Given the description of an element on the screen output the (x, y) to click on. 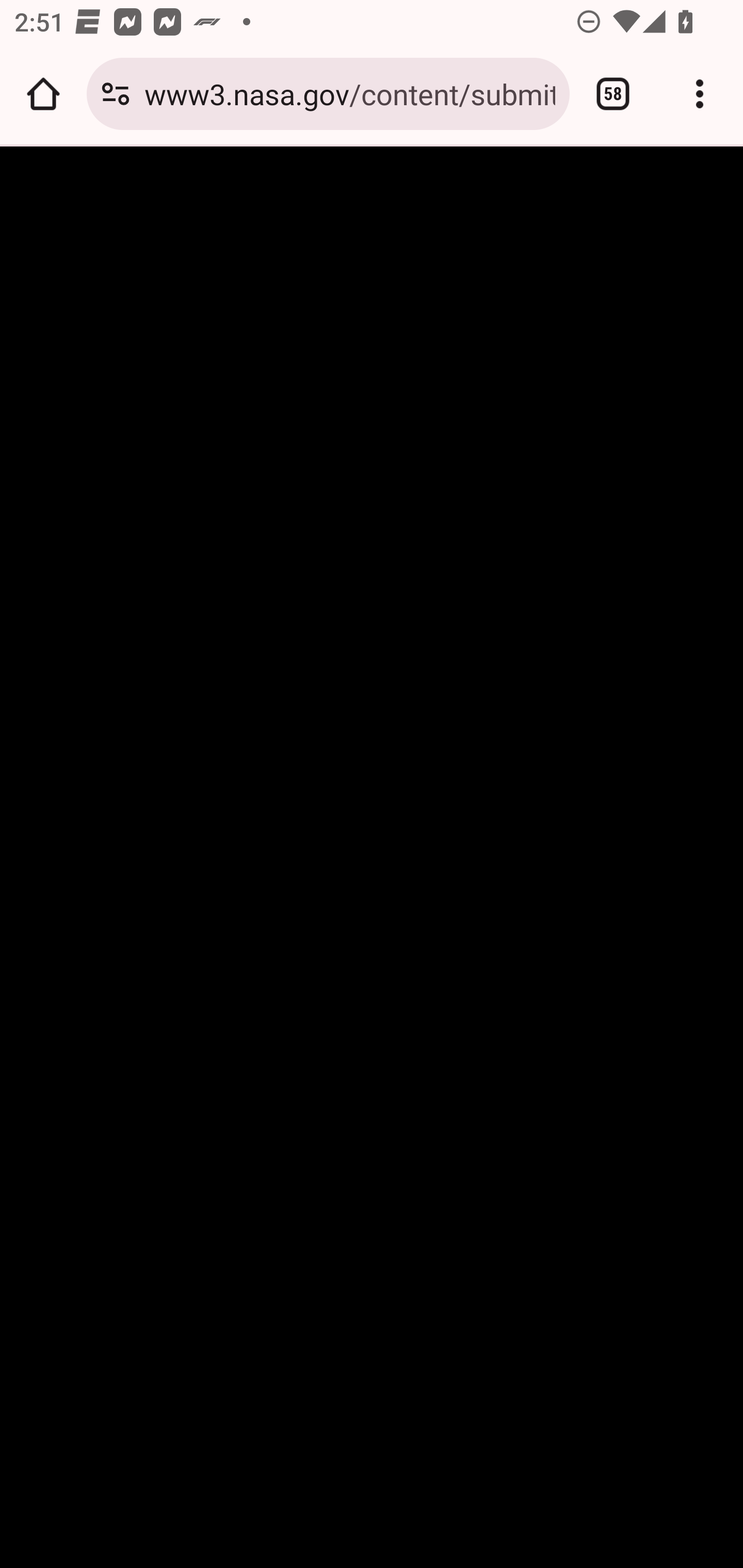
Open the home page (43, 93)
Connection is secure (115, 93)
Switch or close tabs (612, 93)
Customize and control Google Chrome (699, 93)
www3.nasa.gov/content/submit-a-question-for-nasa/ (349, 92)
